Given the description of an element on the screen output the (x, y) to click on. 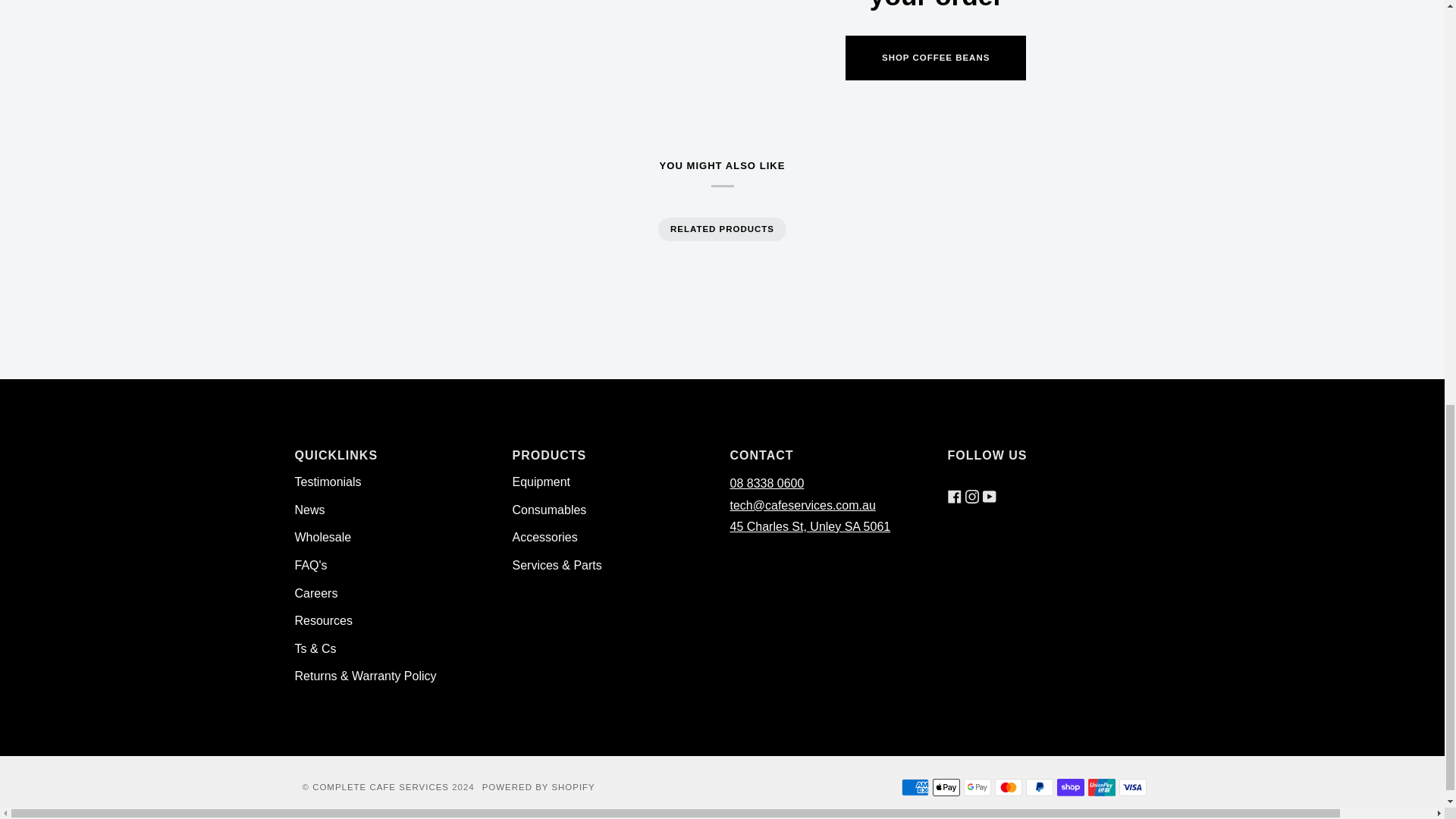
AMERICAN EXPRESS (914, 787)
UNION PAY (1101, 787)
SHOP PAY (1070, 787)
tel:0883380600 (766, 482)
APPLE PAY (946, 787)
RELATED PRODUCTS (721, 228)
Instagram (970, 482)
PAYPAL (1038, 787)
GOOGLE PAY (976, 787)
Facebook (953, 482)
